Given the description of an element on the screen output the (x, y) to click on. 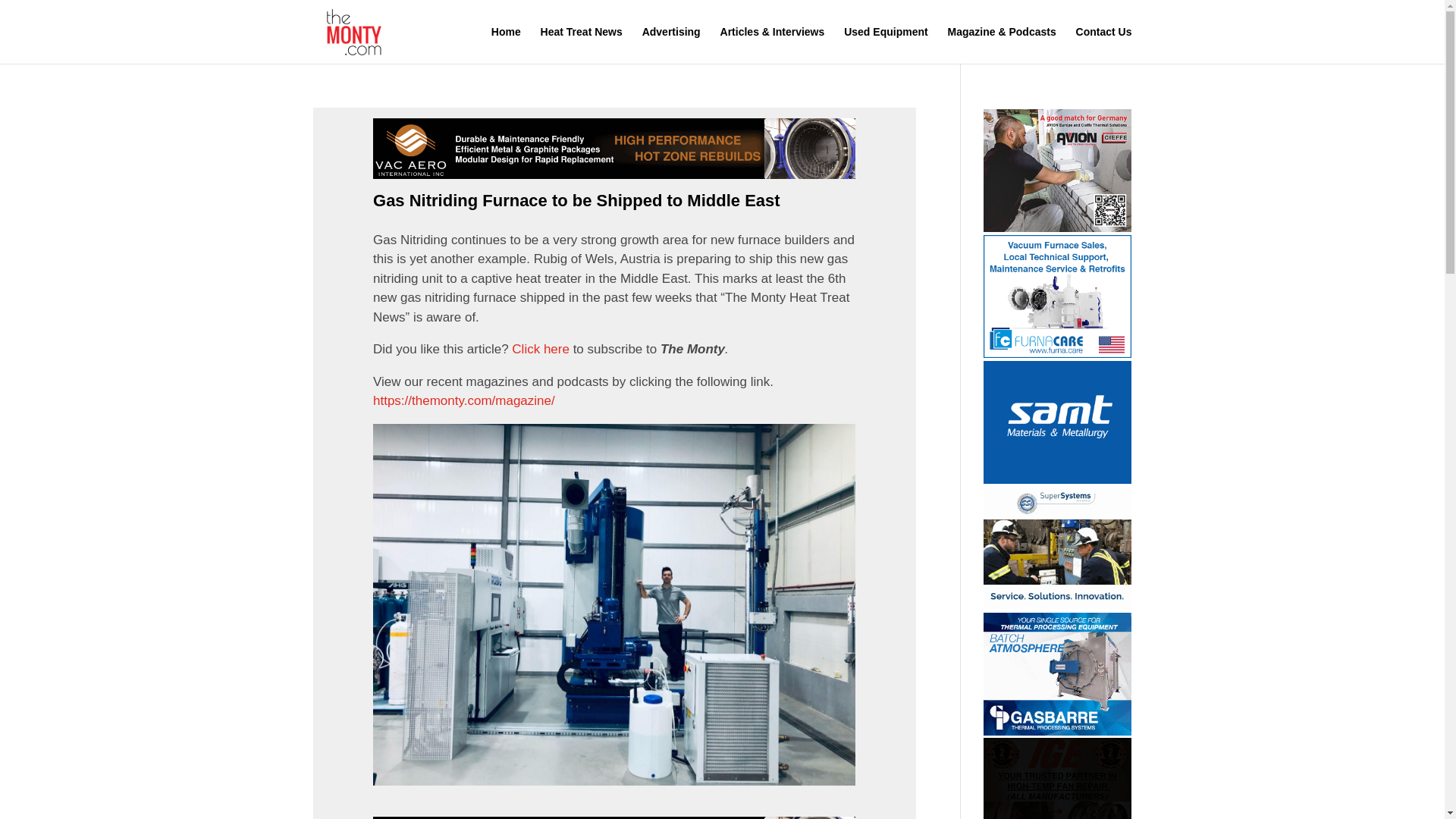
Heat Treat News (581, 44)
Contact Us (1103, 44)
Advertising (671, 44)
Used Equipment (885, 44)
Click here (540, 349)
